Given the description of an element on the screen output the (x, y) to click on. 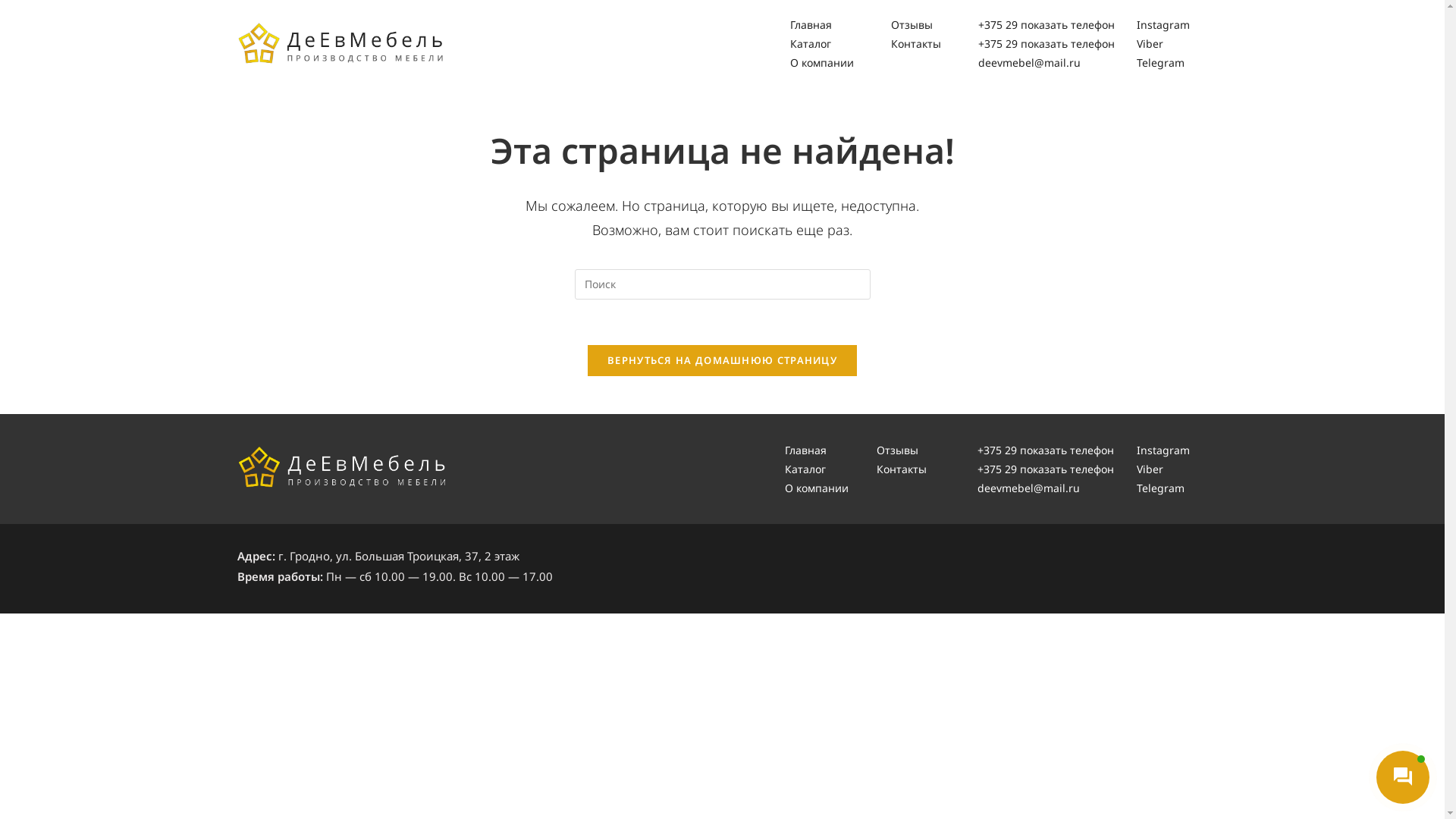
Telegram Element type: text (1162, 62)
Instagram Element type: text (1162, 24)
Telegram Element type: text (1162, 487)
deevmebel@mail.ru Element type: text (1049, 62)
Viber Element type: text (1162, 43)
Viber Element type: text (1162, 468)
deevmebel@mail.ru Element type: text (1049, 487)
Instagram Element type: text (1162, 449)
